Given the description of an element on the screen output the (x, y) to click on. 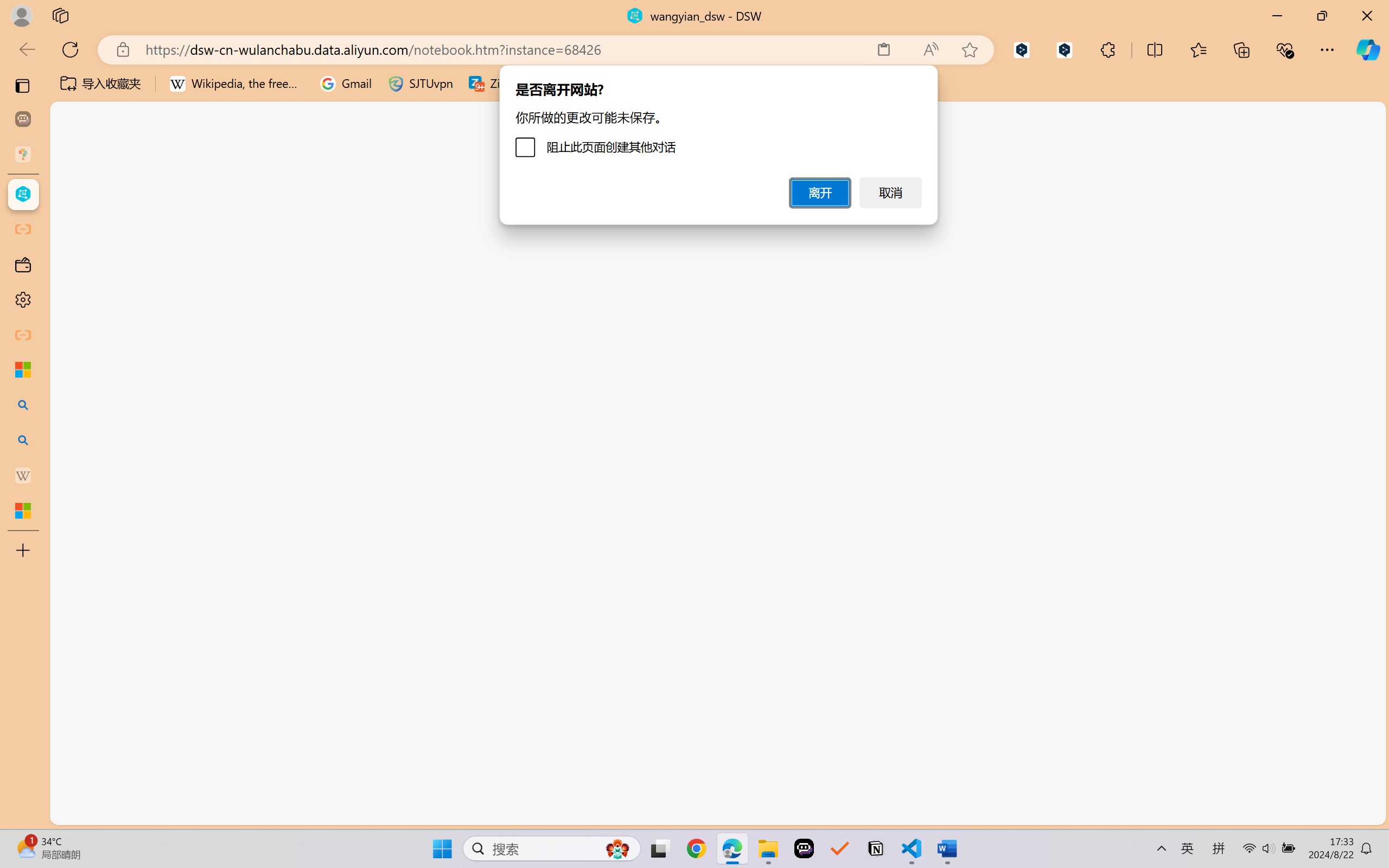
Go Back (Alt+LeftArrow) (329, 159)
Notifications (986, 812)
remote (66, 812)
Go Forward (Alt+RightArrow) (354, 159)
Explorer actions (211, 194)
